Given the description of an element on the screen output the (x, y) to click on. 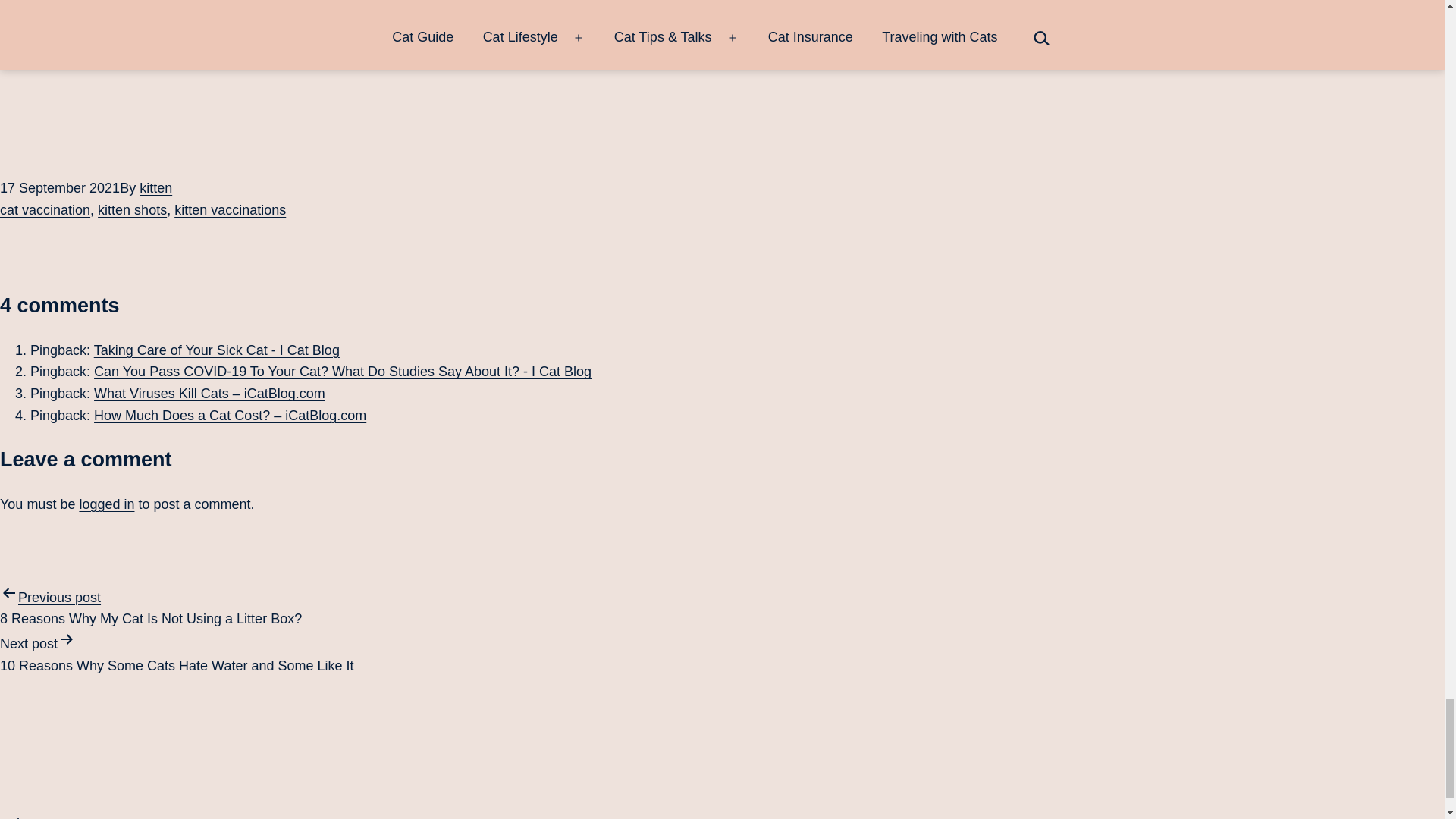
cat vaccination (45, 209)
Taking Care of Your Sick Cat - I Cat Blog (216, 350)
Different Ways for Your Cat Exercise (730, 9)
logged in (105, 503)
kitten shots (132, 209)
kitten vaccinations (229, 209)
kitten (155, 187)
Is A Cat's Night Vision Different From Humans'? How and Why? (730, 42)
